Given the description of an element on the screen output the (x, y) to click on. 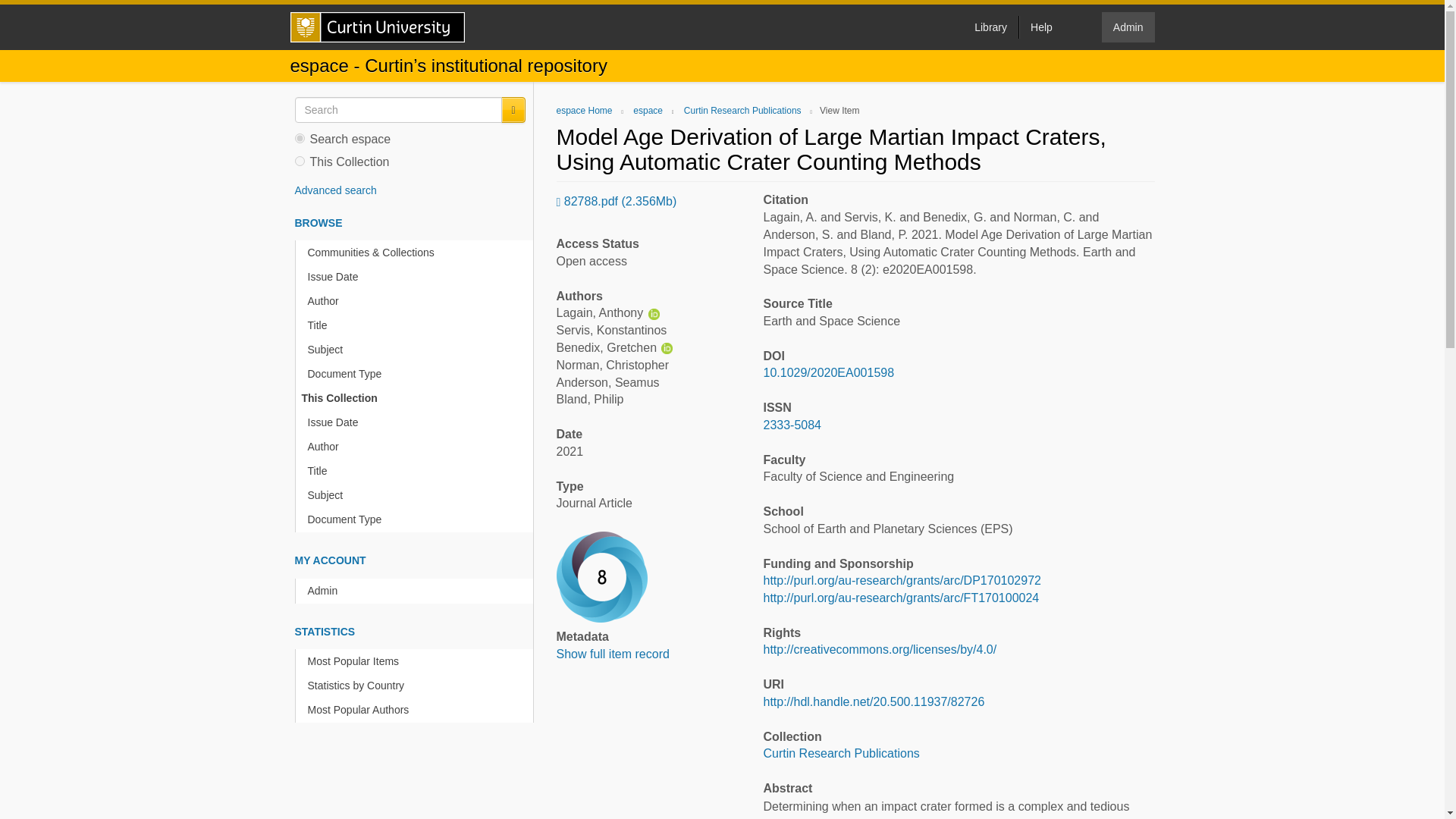
Advanced search (334, 190)
Help (1040, 26)
Admin (1128, 27)
Title (416, 325)
Show full item record (612, 653)
espace (647, 110)
Curtin Research Publications (743, 110)
Author (416, 301)
2333-5084 (791, 424)
Go (512, 109)
Subject (416, 349)
Library (989, 26)
Curtin Research Publications (840, 753)
Curtin University Homepage (376, 27)
Issue Date (416, 276)
